Given the description of an element on the screen output the (x, y) to click on. 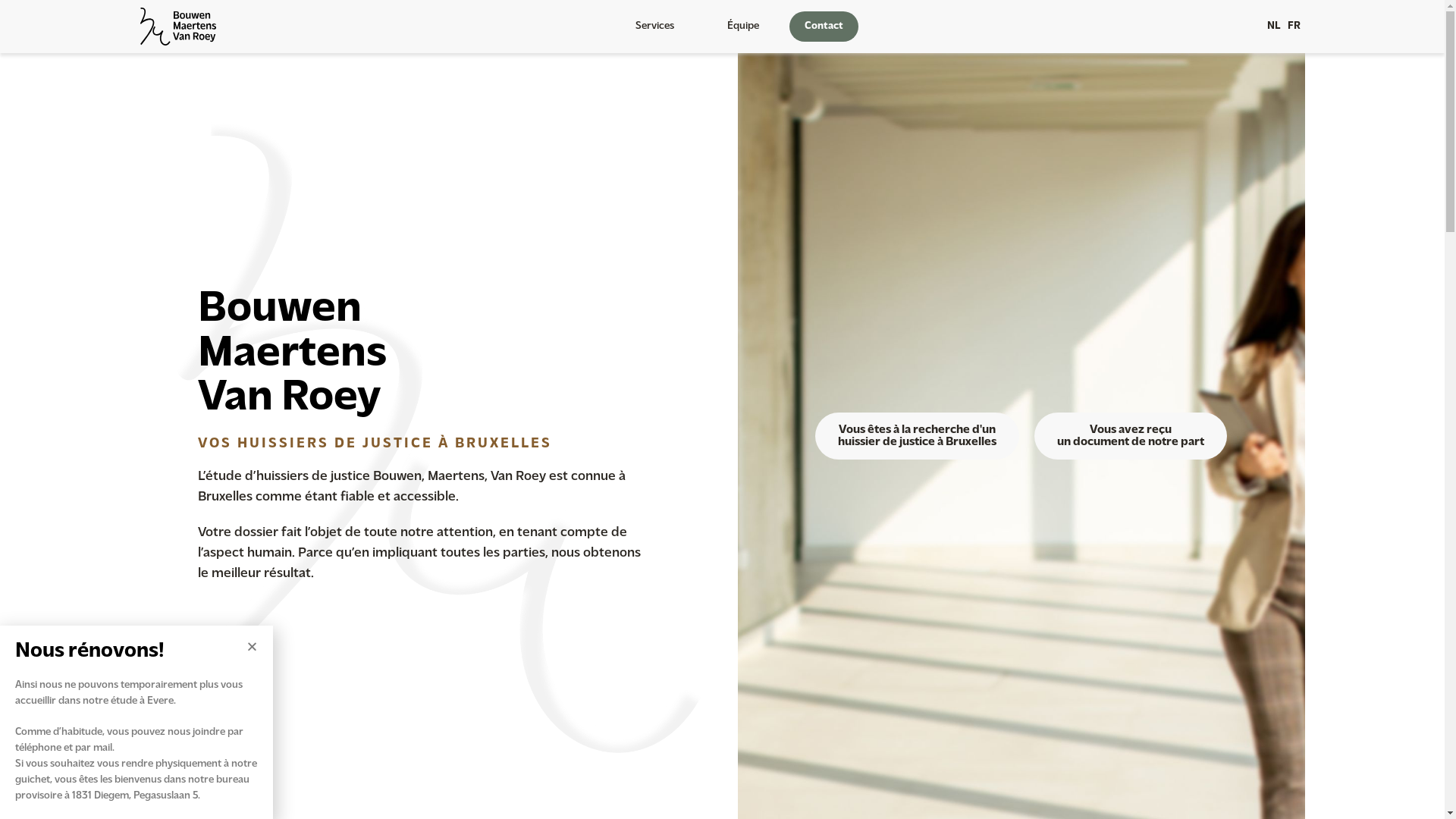
NL Element type: text (1272, 26)
Services Element type: text (658, 26)
FR Element type: text (1293, 26)
Contact Element type: text (822, 26)
